Given the description of an element on the screen output the (x, y) to click on. 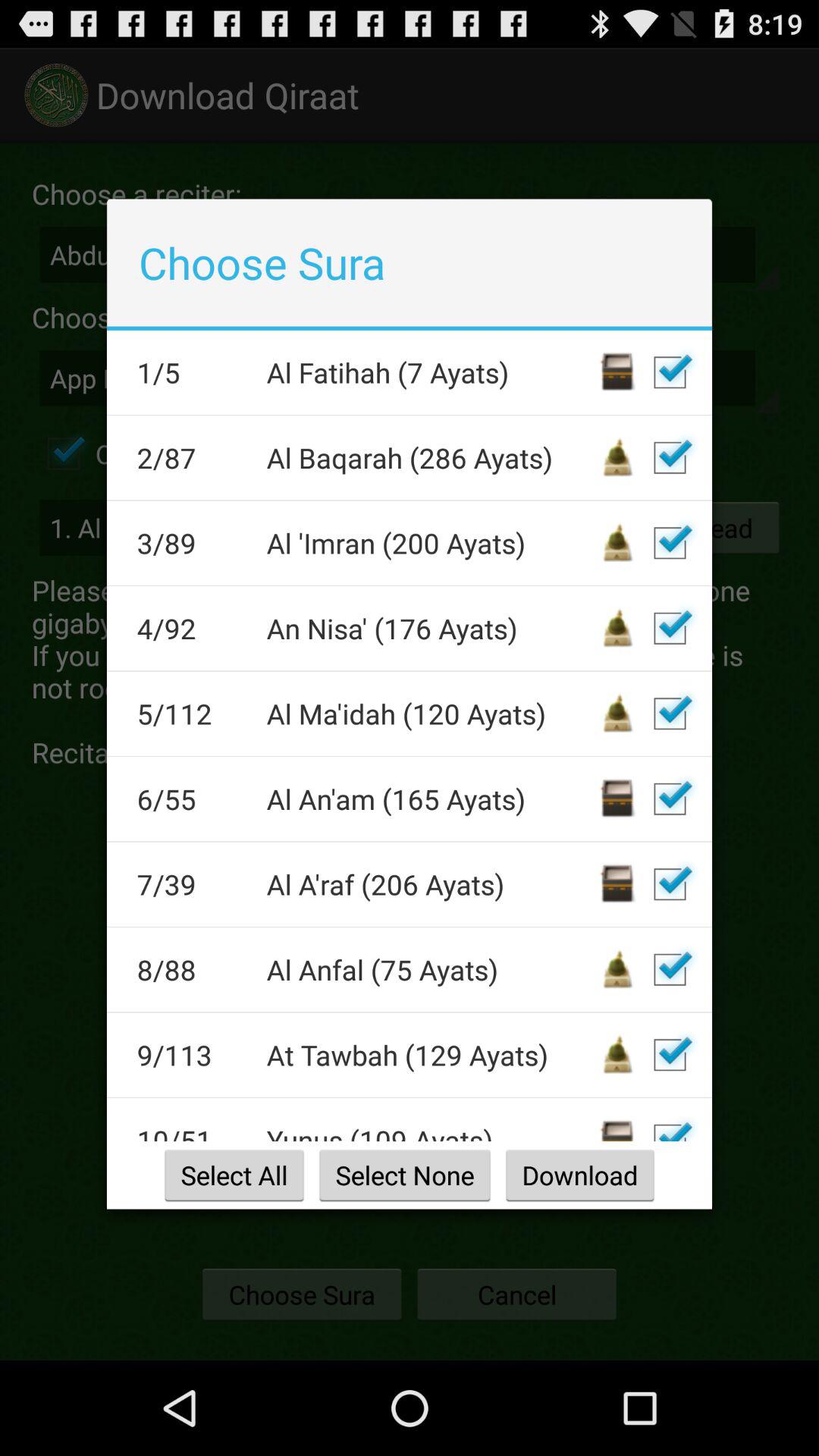
selection button (669, 628)
